Given the description of an element on the screen output the (x, y) to click on. 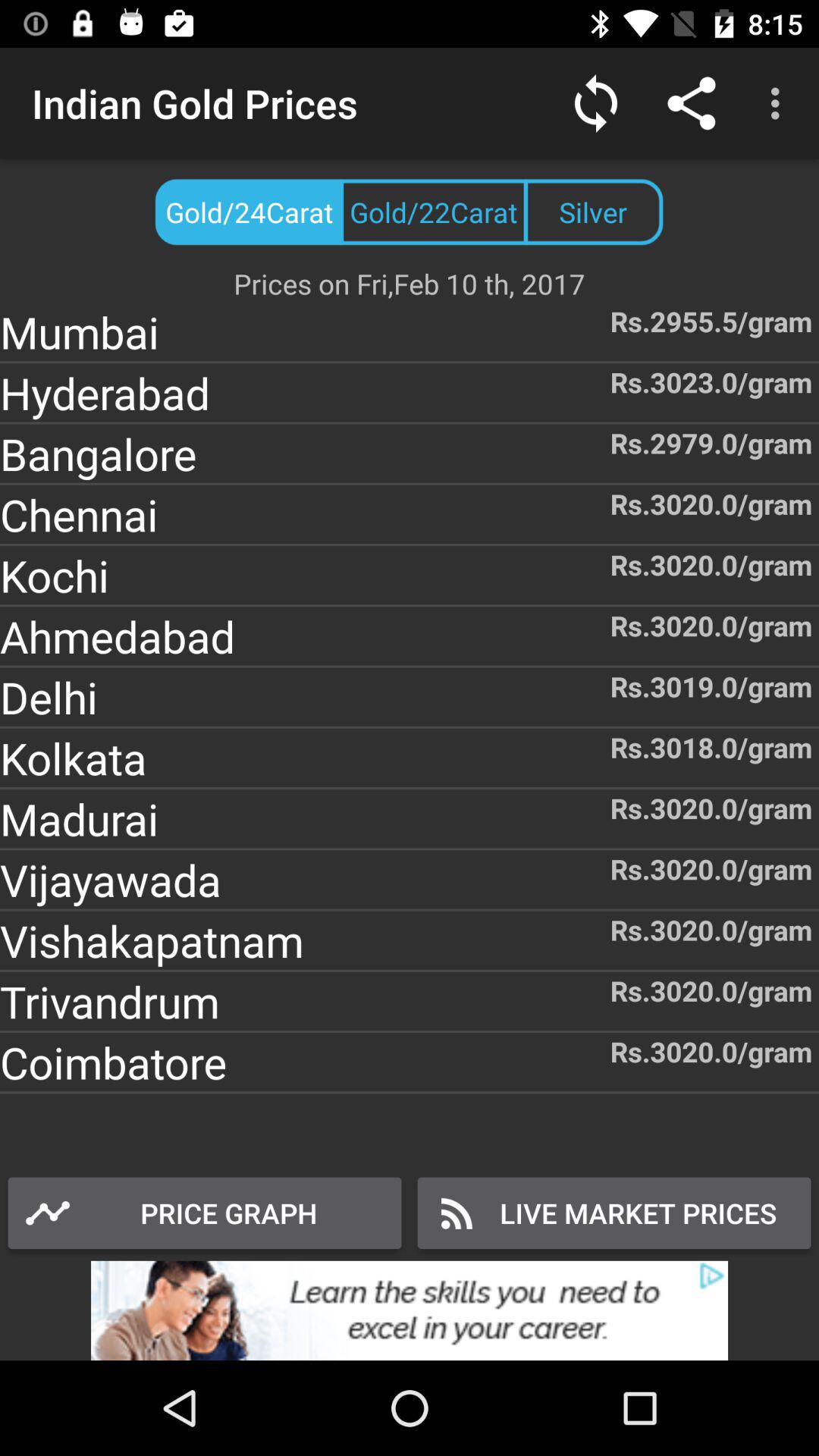
add the option (409, 1310)
